Given the description of an element on the screen output the (x, y) to click on. 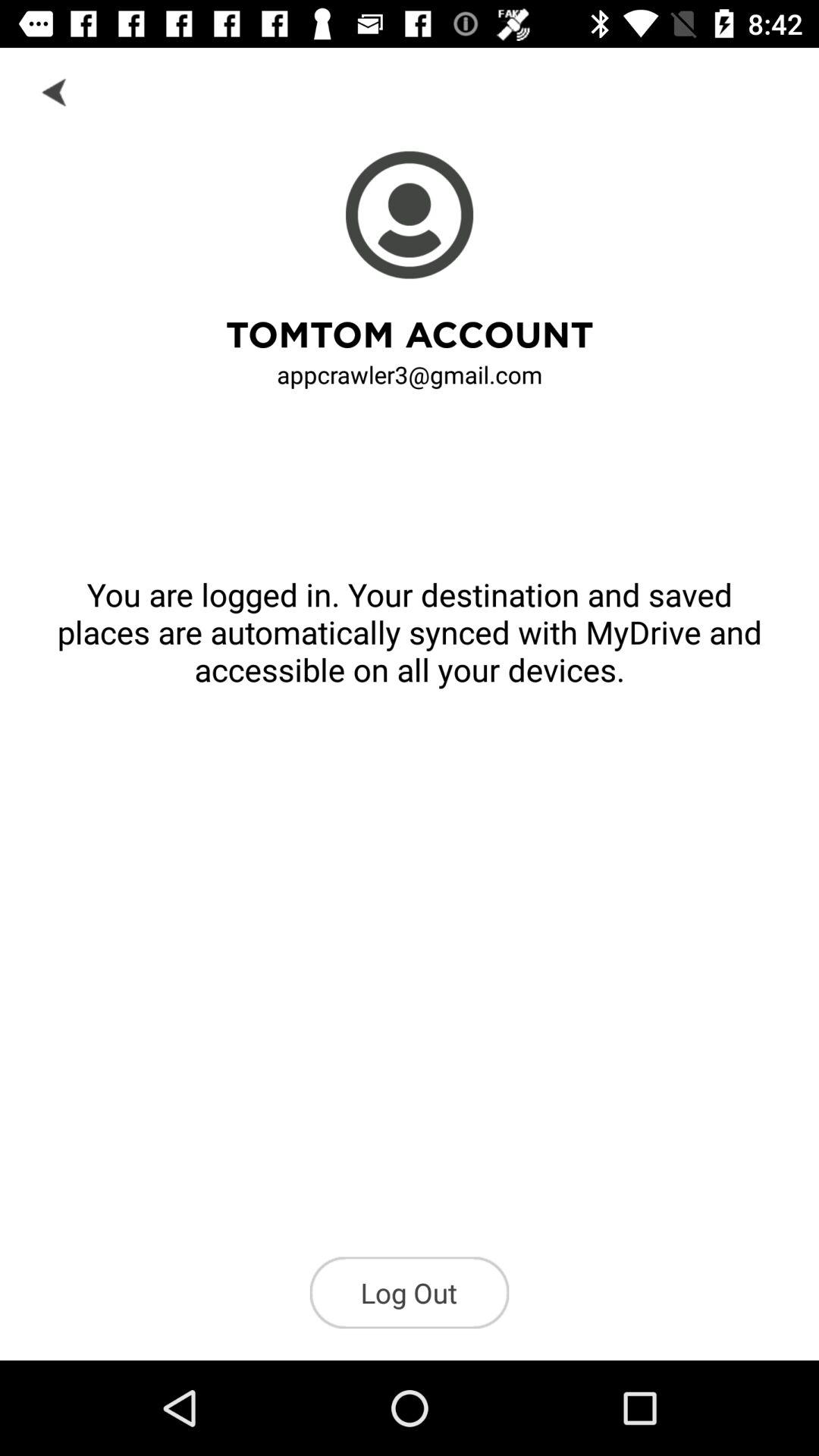
goto previous screen (55, 91)
